Given the description of an element on the screen output the (x, y) to click on. 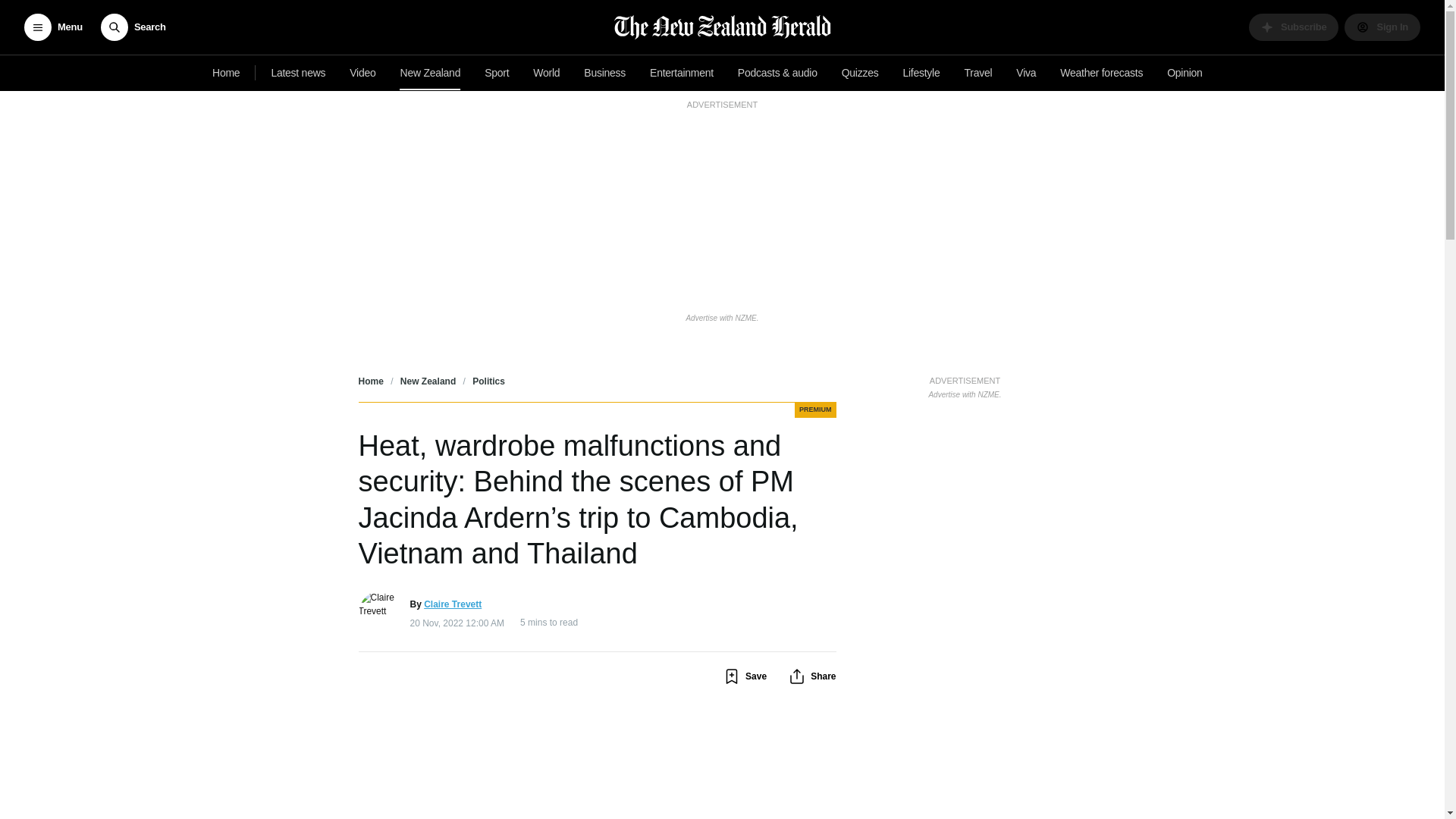
Search (132, 26)
Sign In (1382, 26)
Quizzes (860, 72)
Manage your account (1382, 26)
Travel (978, 72)
Menu (53, 26)
Viva (1026, 72)
Video (362, 72)
Sport (497, 72)
Entertainment (681, 72)
